Given the description of an element on the screen output the (x, y) to click on. 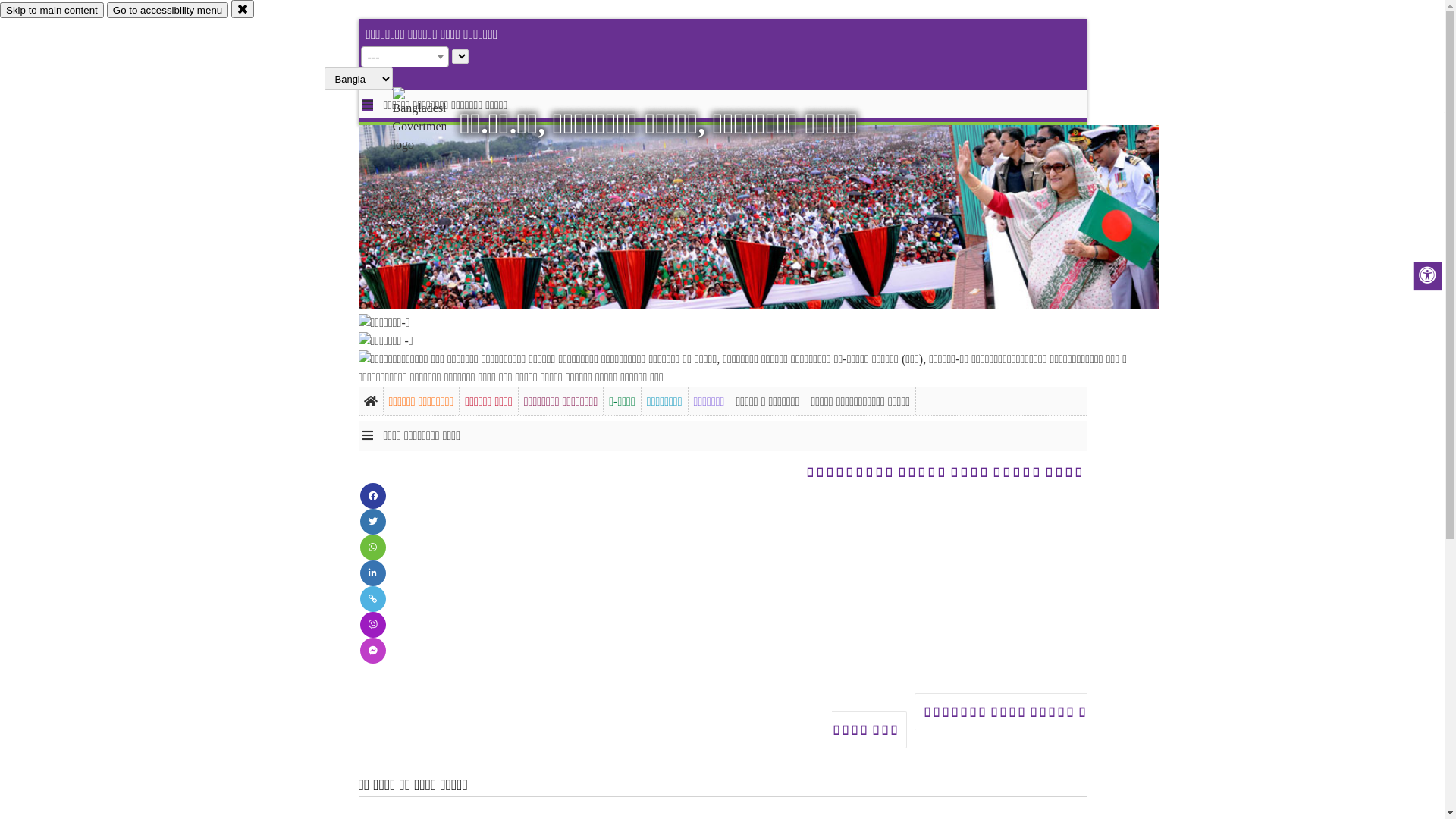

                
             Element type: hover (431, 120)
close Element type: hover (242, 9)
Go to accessibility menu Element type: text (167, 10)
Skip to main content Element type: text (51, 10)
